Given the description of an element on the screen output the (x, y) to click on. 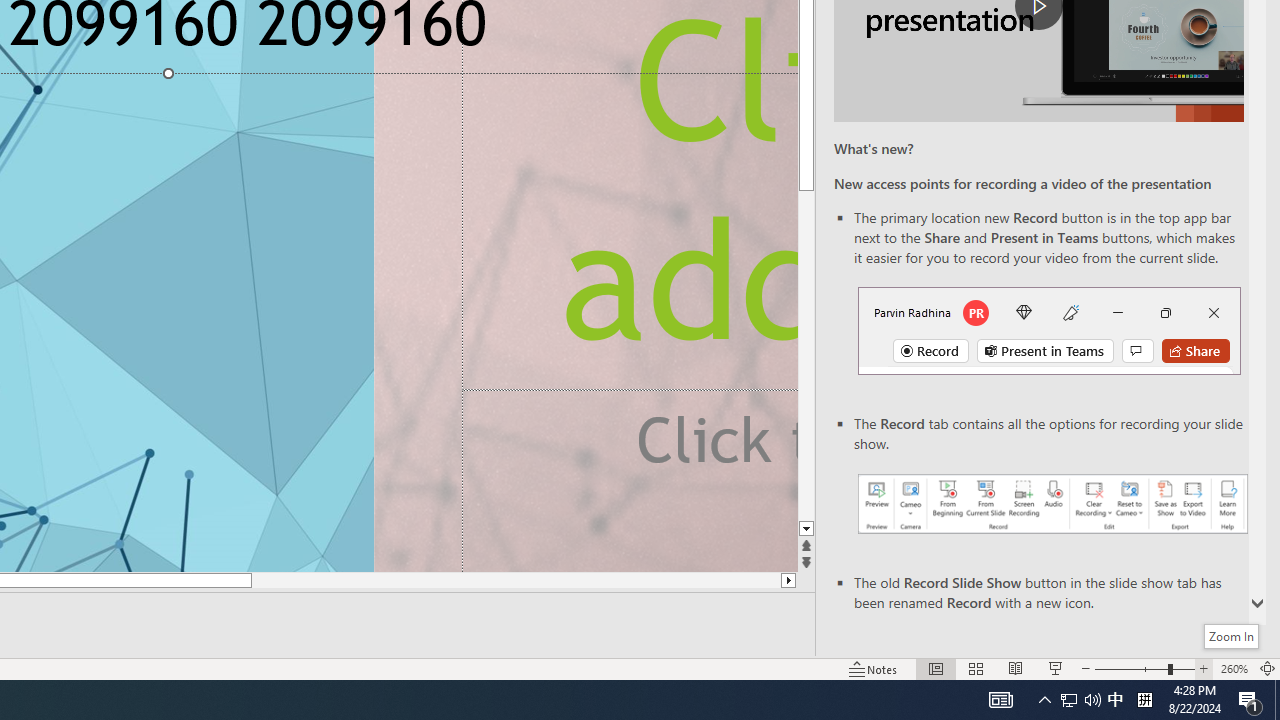
Zoom 95% (1253, 640)
